Given the description of an element on the screen output the (x, y) to click on. 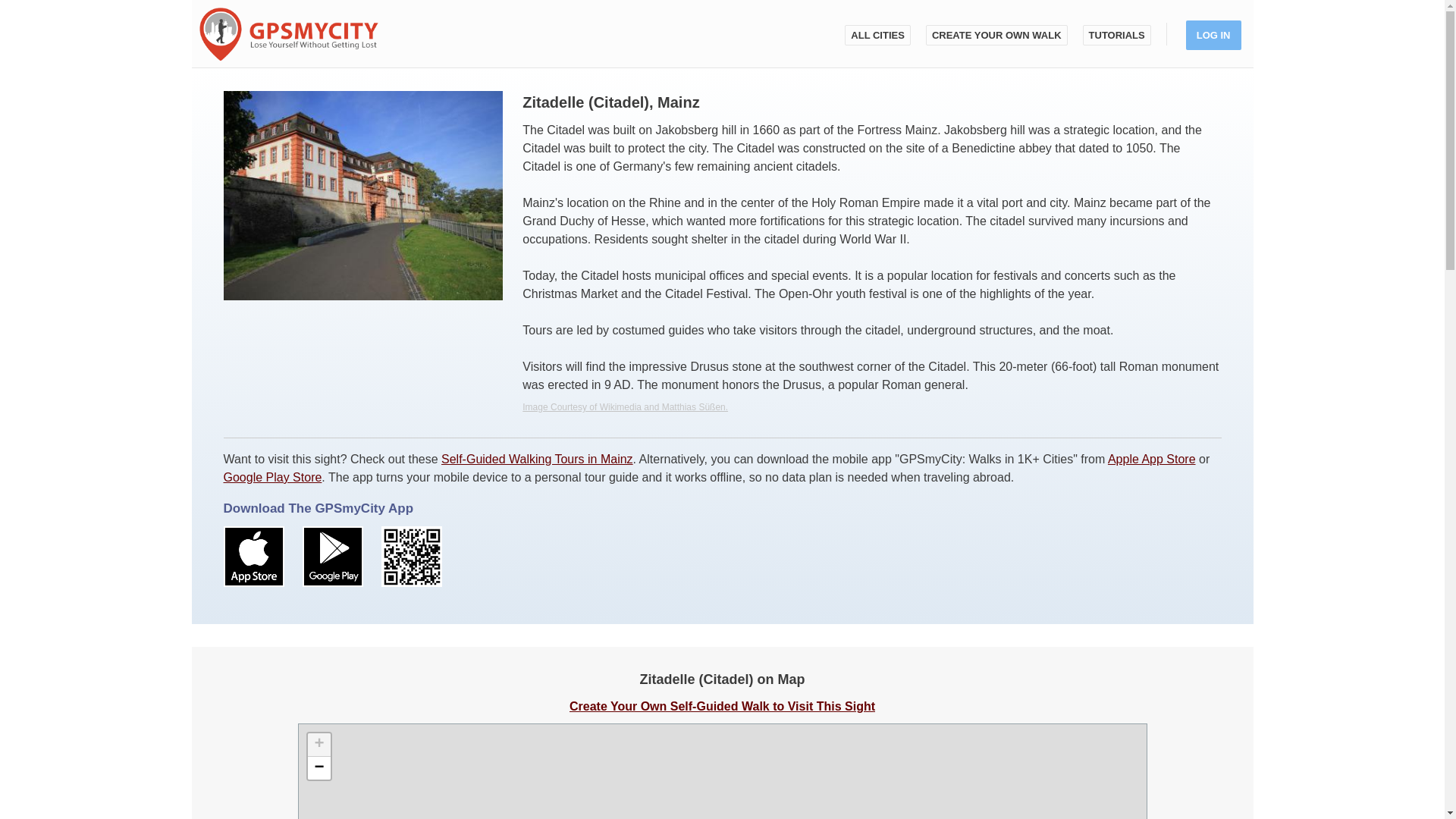
LOG IN (1213, 34)
GPSmyCity city walks app (287, 33)
CREATE YOUR OWN WALK (996, 35)
TUTORIALS (1117, 35)
Zoom out (318, 767)
Google Play Store (271, 477)
Zoom in (318, 743)
Apple App Store (1151, 459)
Self-Guided Walking Tours in Mainz (537, 459)
Create Your Own Self-Guided Walk to Visit This Sight (722, 705)
ALL CITIES (877, 35)
